Given the description of an element on the screen output the (x, y) to click on. 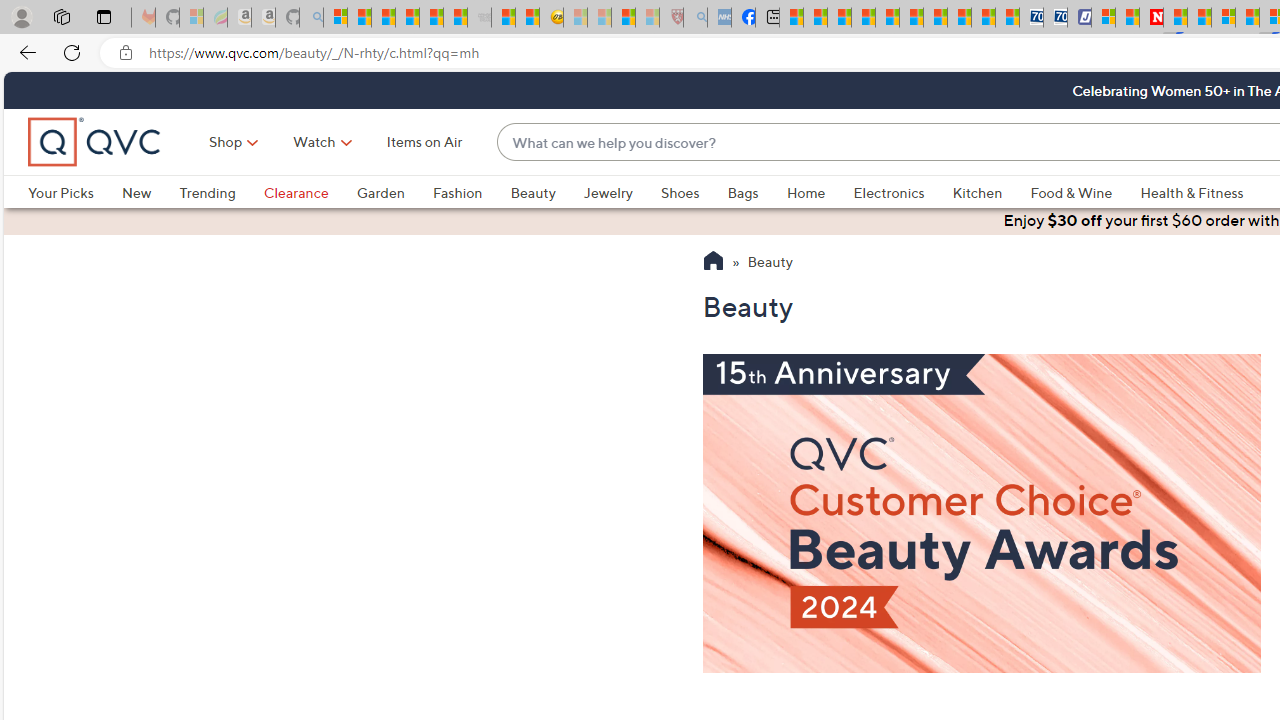
Fashion (457, 192)
NCL Adult Asthma Inhaler Choice Guideline - Sleeping (718, 17)
Recipes - MSN - Sleeping (575, 17)
Microsoft-Report a Concern to Bing - Sleeping (191, 17)
Bags (743, 192)
Beauty (532, 192)
Robert H. Shmerling, MD - Harvard Health - Sleeping (671, 17)
Beauty (770, 263)
Trending (207, 192)
Clearance (295, 192)
Return to QVC Homepage (712, 263)
